Given the description of an element on the screen output the (x, y) to click on. 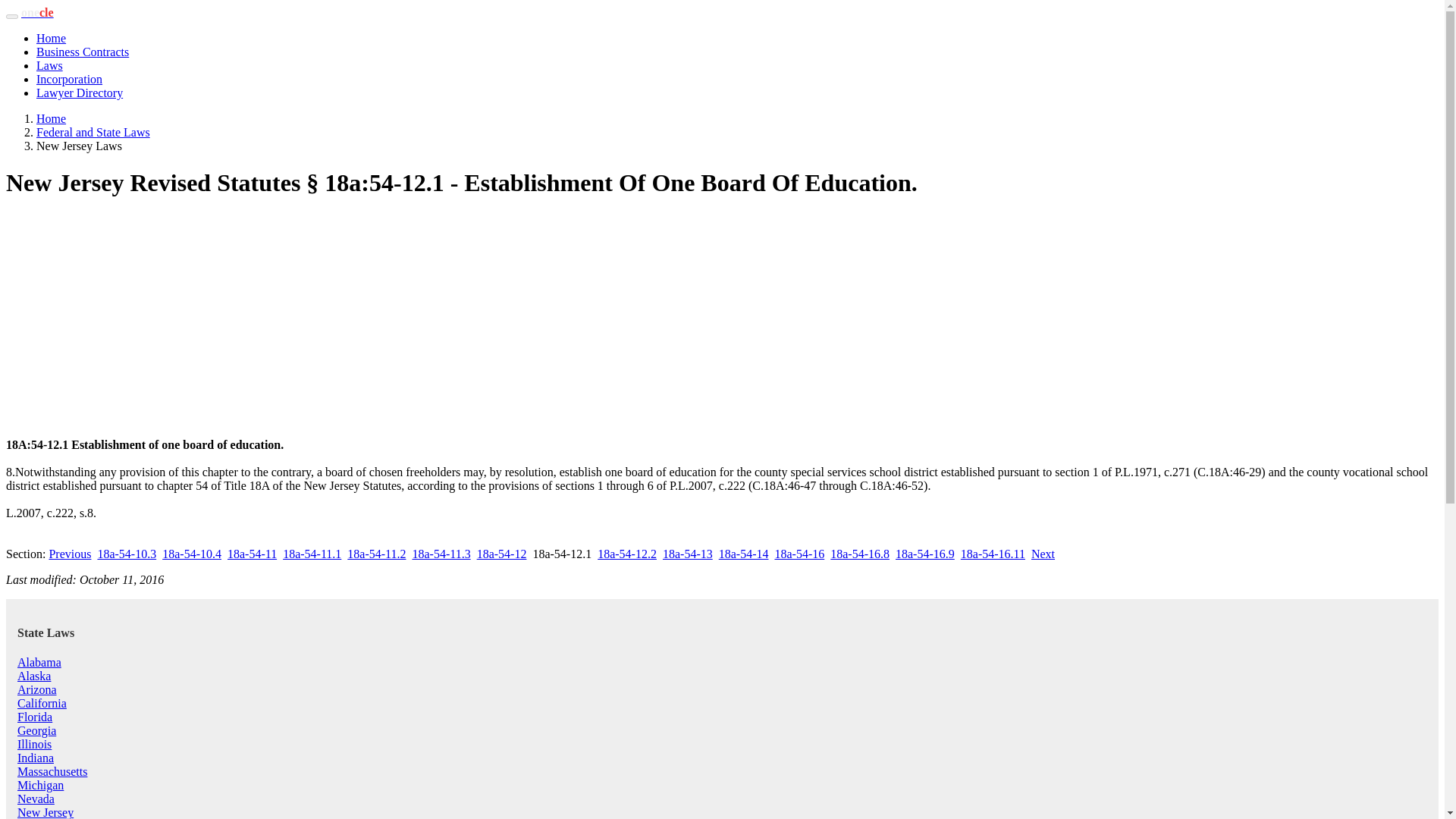
18a-54-10.4 (191, 553)
18a-54-11.2 (376, 553)
18a-54-12 (502, 553)
Home (50, 38)
18a-54-16.9 (925, 553)
Arizona (36, 689)
Massachusetts (52, 771)
New Jersey (45, 812)
Home (50, 118)
Next (1042, 553)
Federal and State Laws (92, 132)
18a-54-11.3 (441, 553)
Lawyer Directory (79, 92)
18a-54-12.2 (626, 553)
Michigan (40, 784)
